Given the description of an element on the screen output the (x, y) to click on. 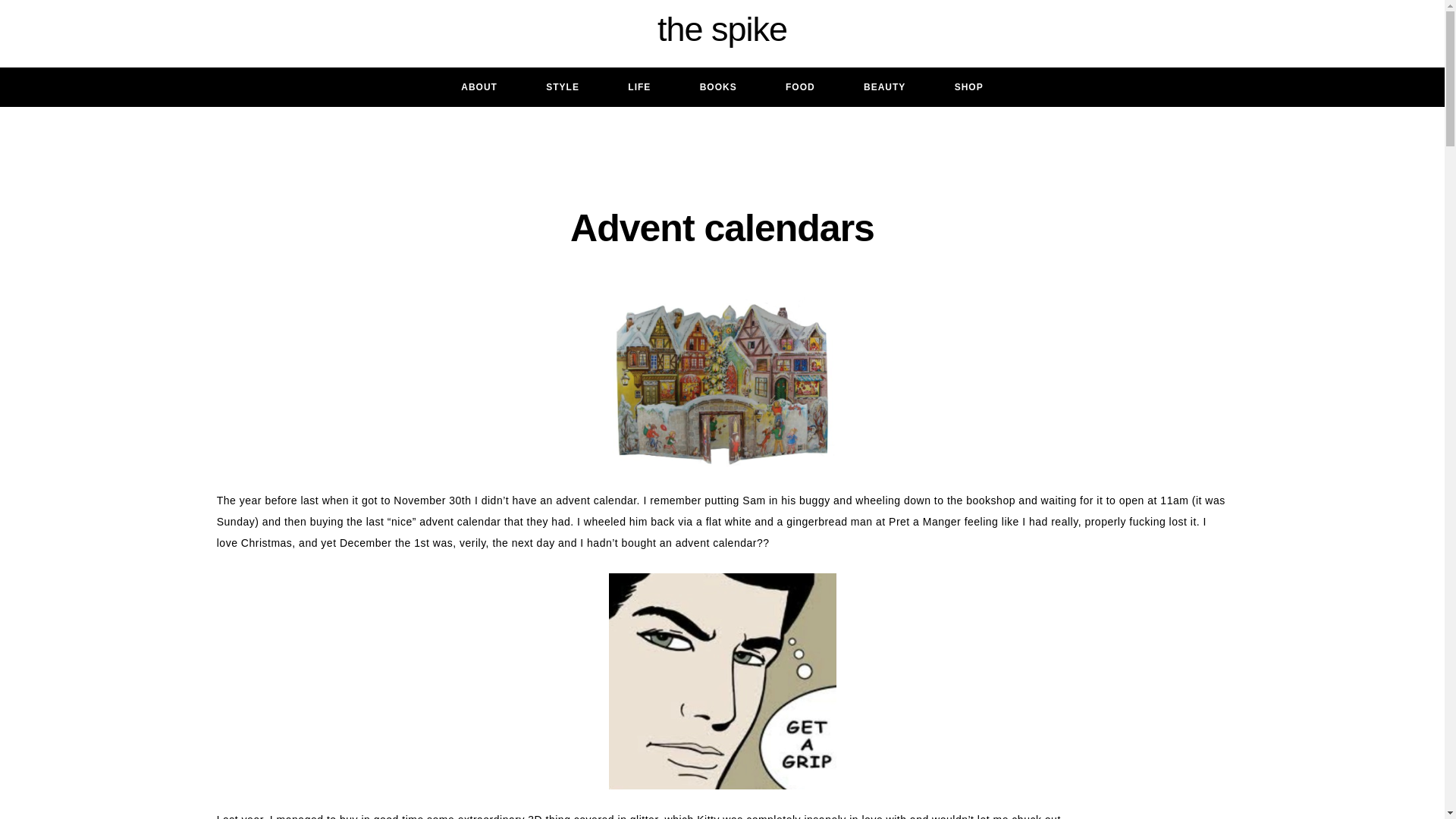
FOOD (800, 86)
LIFE (638, 86)
the spike (722, 29)
BEAUTY (884, 86)
BOOKS (718, 86)
STYLE (562, 86)
ABOUT (478, 86)
SHOP (968, 86)
